Given the description of an element on the screen output the (x, y) to click on. 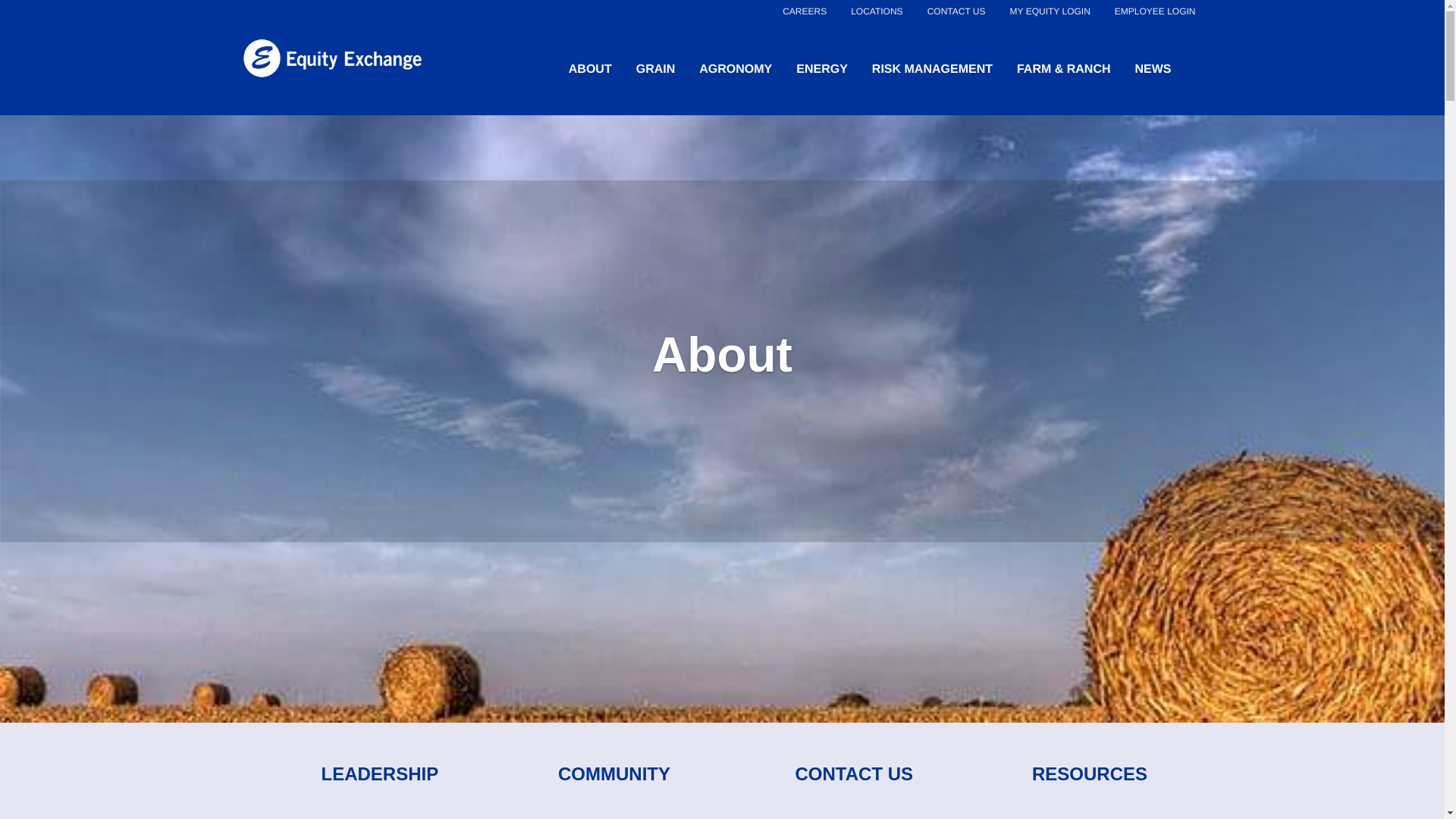
Equity Exchange (330, 59)
GRAIN (655, 69)
AGRONOMY (734, 69)
ABOUT (590, 69)
RISK MANAGEMENT (932, 69)
ENERGY (821, 69)
